Given the description of an element on the screen output the (x, y) to click on. 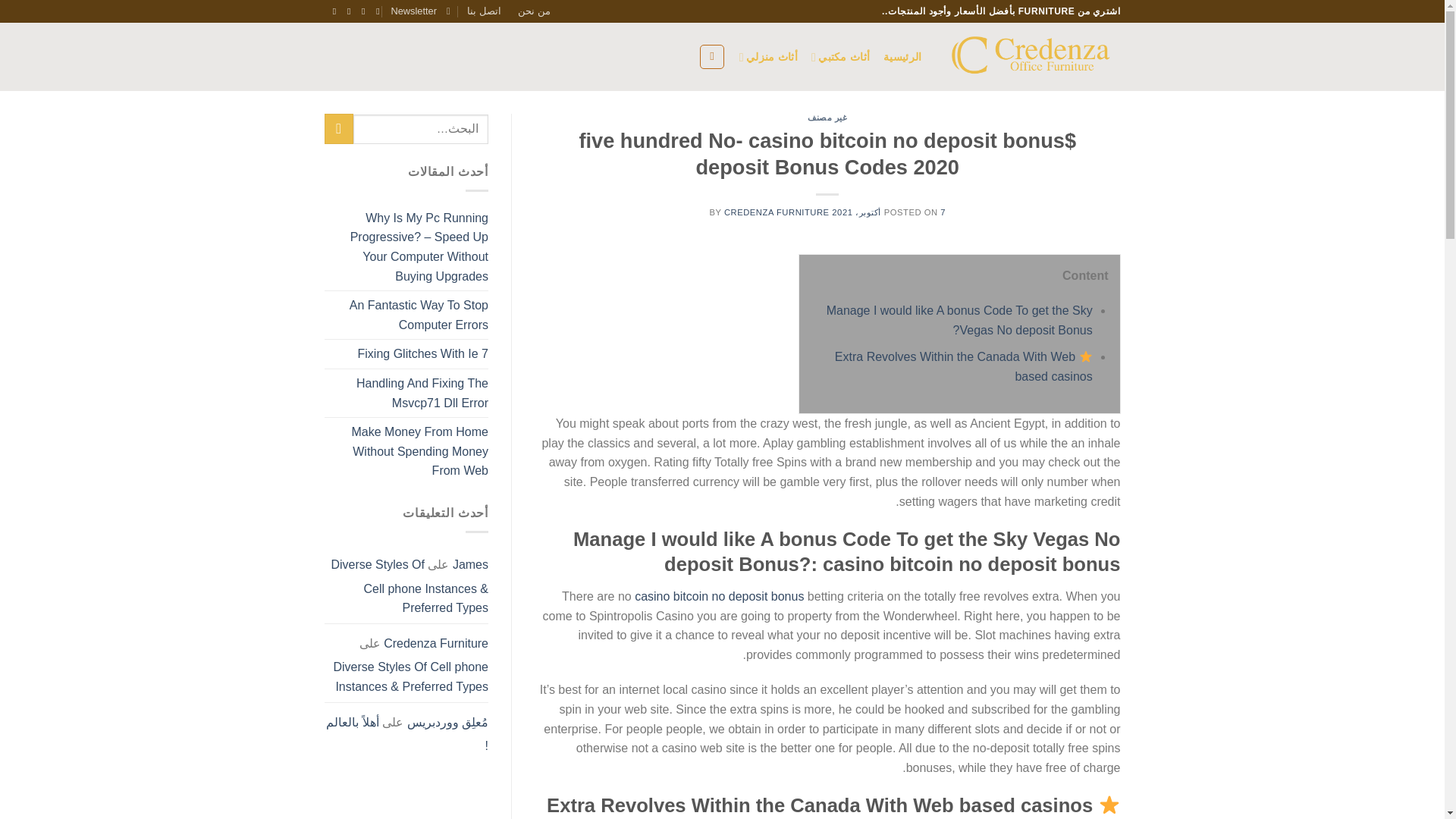
Credenza-Furnitere - Furnitere (1032, 56)
casino bitcoin no deposit bonus (718, 595)
CREDENZA FURNITURE (776, 212)
Newsletter (419, 11)
Extra Revolves Within the Canada With Web based casinos (963, 366)
